Given the description of an element on the screen output the (x, y) to click on. 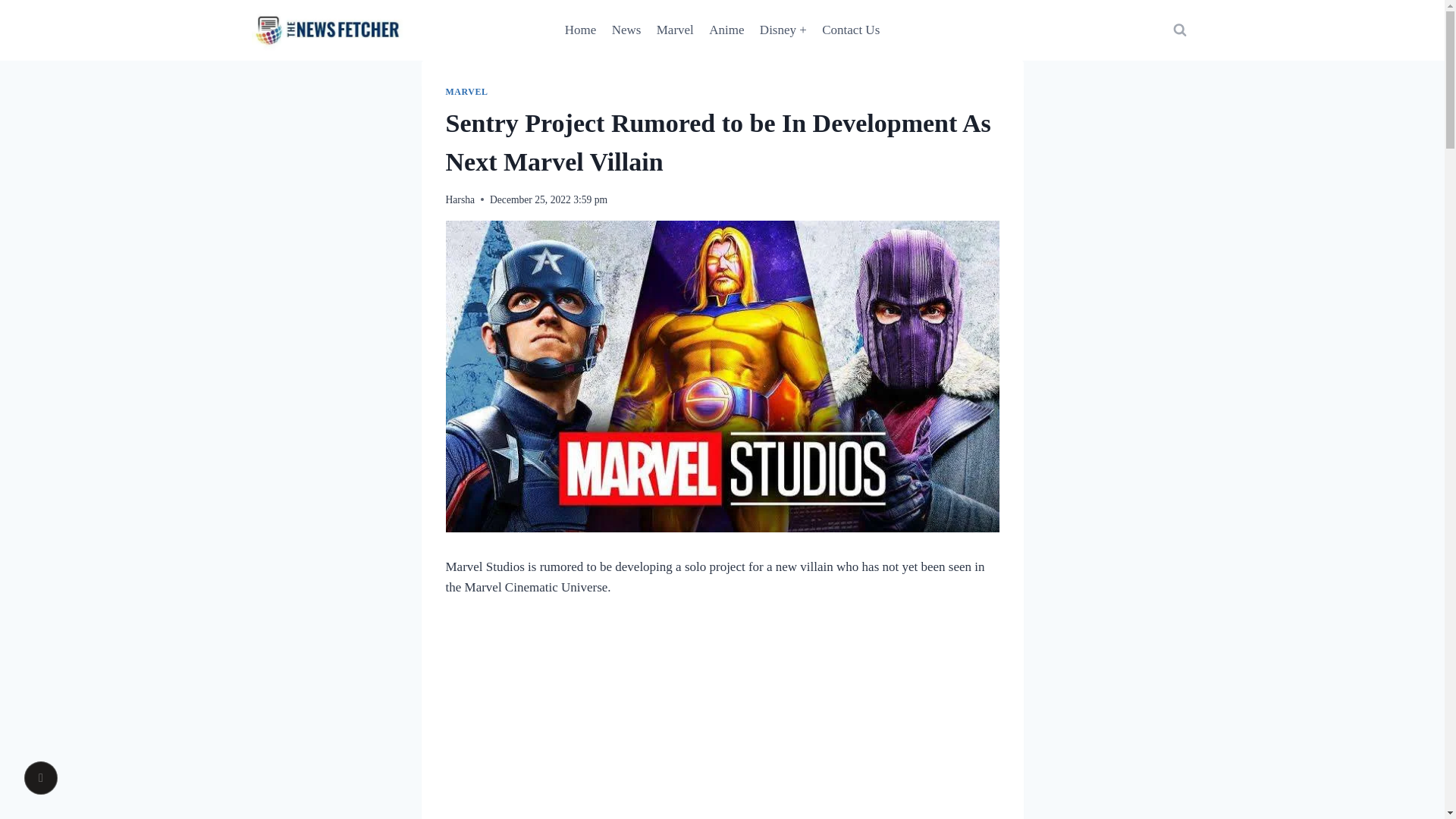
MARVEL (466, 91)
Home (580, 30)
Advertisement (720, 720)
Anime (726, 30)
Marvel (675, 30)
Contact Us (849, 30)
Harsha (460, 199)
News (625, 30)
